Given the description of an element on the screen output the (x, y) to click on. 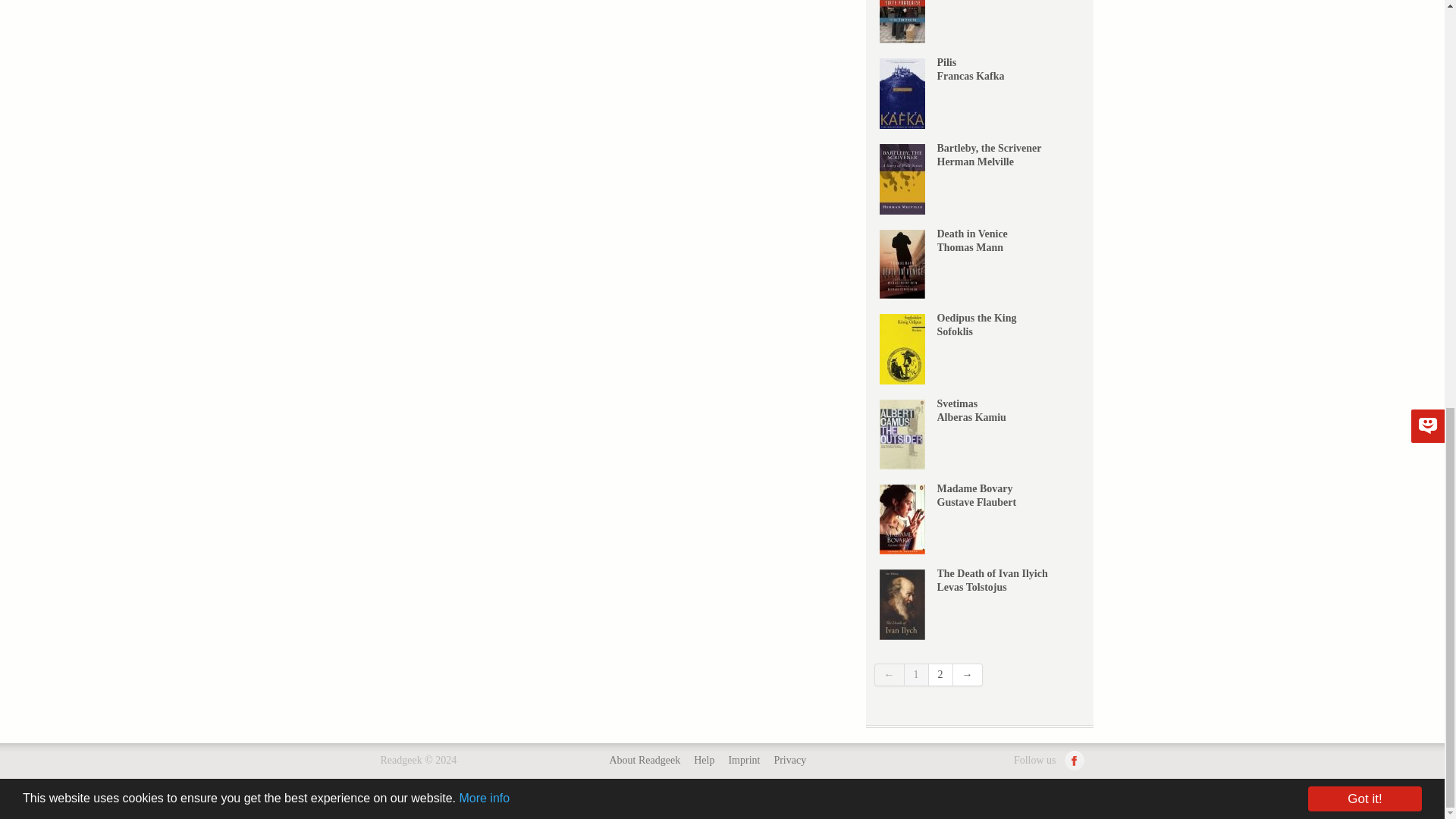
Herman Melville (975, 161)
Francas Kafka (970, 75)
Bartleby, the Scrivener (989, 147)
Pilis (946, 61)
